Given the description of an element on the screen output the (x, y) to click on. 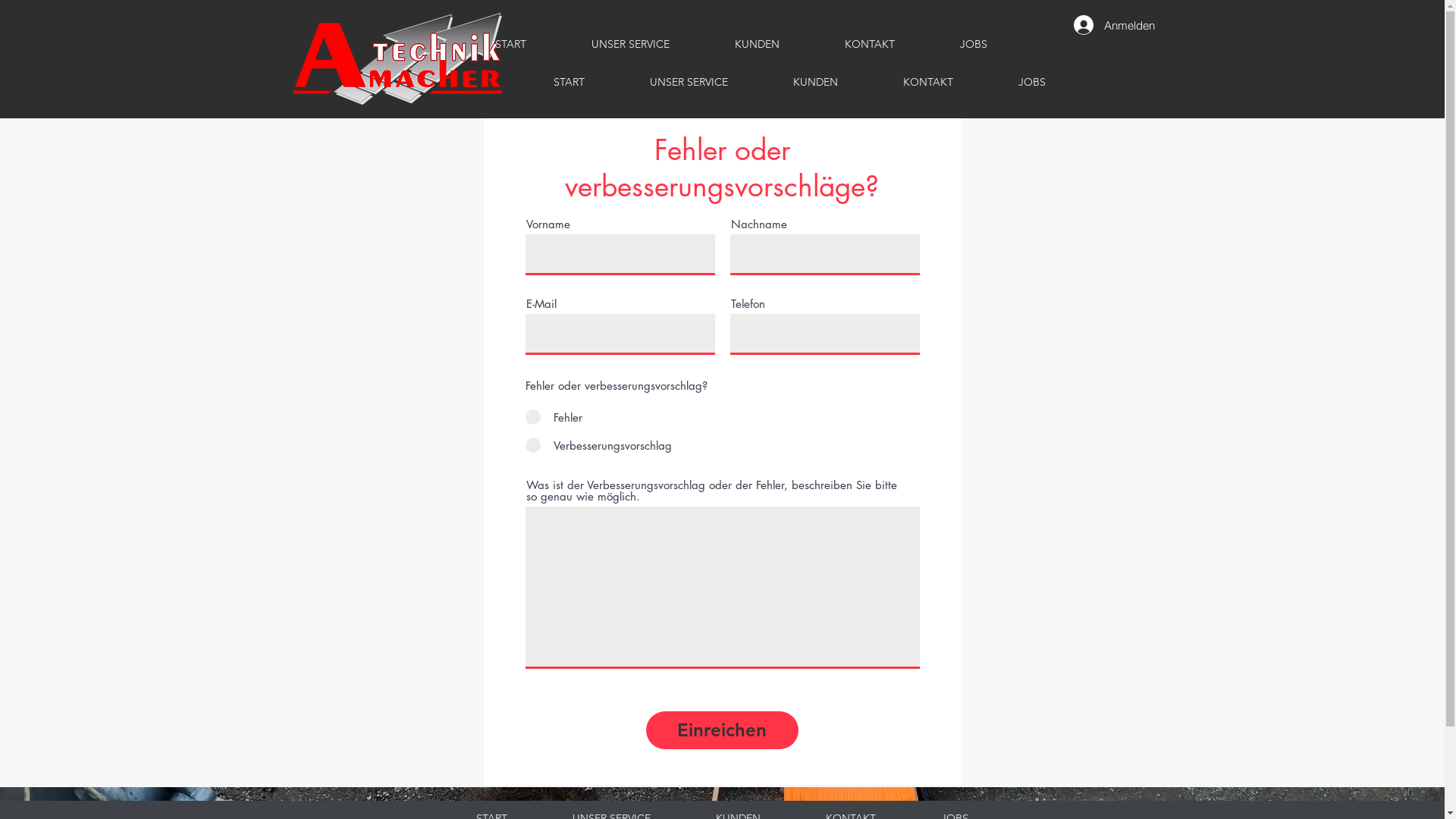
KONTAKT Element type: text (869, 44)
Anmelden Element type: text (1114, 24)
JOBS Element type: text (973, 44)
START Element type: text (510, 44)
UNSER SERVICE Element type: text (630, 44)
JOBS Element type: text (1031, 82)
UNSER SERVICE Element type: text (688, 82)
KUNDEN Element type: text (757, 44)
Einreichen Element type: text (722, 730)
KONTAKT Element type: text (927, 82)
KUNDEN Element type: text (814, 82)
START Element type: text (568, 82)
